Given the description of an element on the screen output the (x, y) to click on. 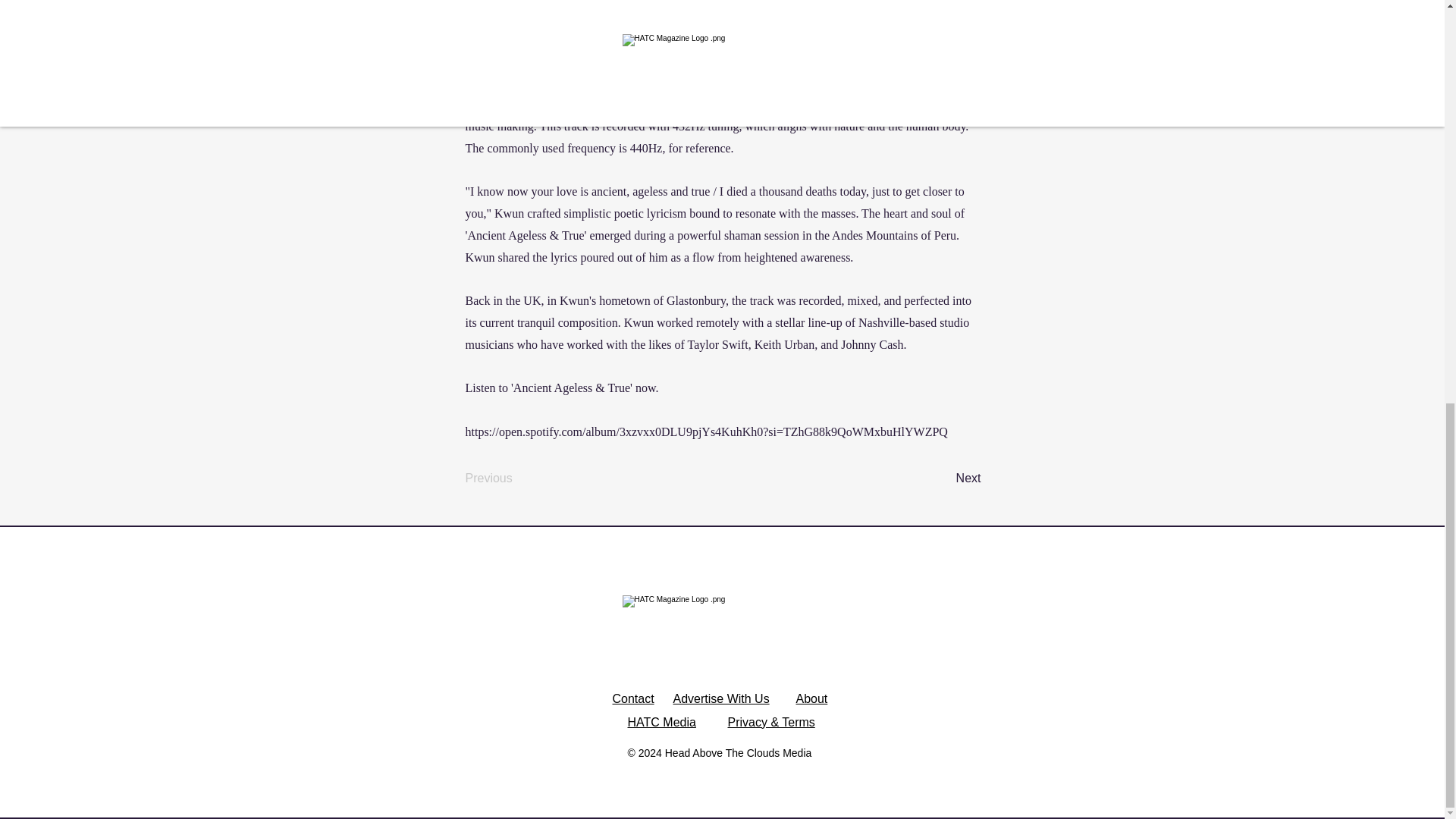
Advertise With Us (721, 698)
Previous (515, 478)
HATC Media (661, 721)
About (812, 698)
Next (943, 478)
Contact (632, 698)
